Given the description of an element on the screen output the (x, y) to click on. 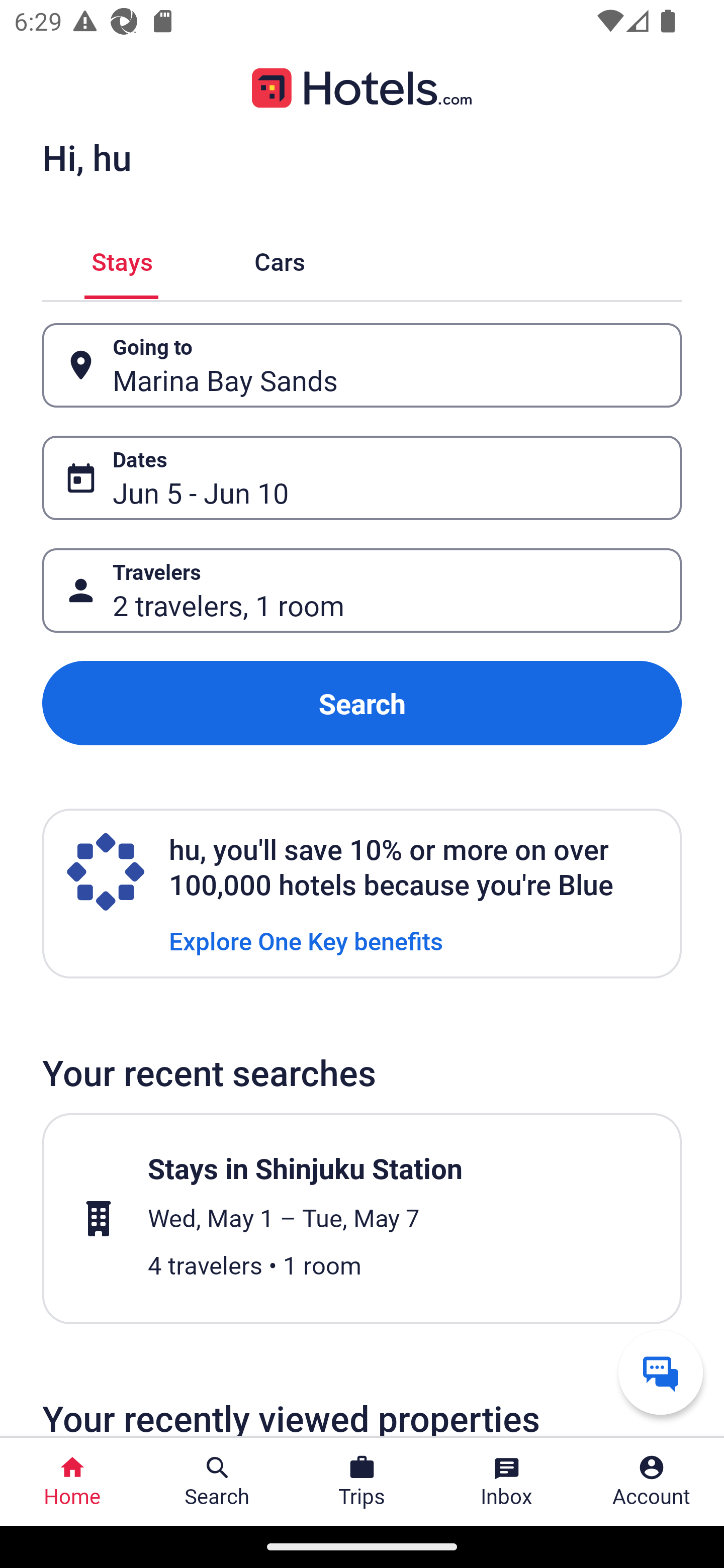
Hi, hu (86, 156)
Cars (279, 259)
Going to Button Marina Bay Sands (361, 365)
Dates Button Jun 5 - Jun 10 (361, 477)
Travelers Button 2 travelers, 1 room (361, 590)
Search (361, 702)
Get help from a virtual agent (660, 1371)
Search Search Button (216, 1481)
Trips Trips Button (361, 1481)
Inbox Inbox Button (506, 1481)
Account Profile. Button (651, 1481)
